Given the description of an element on the screen output the (x, y) to click on. 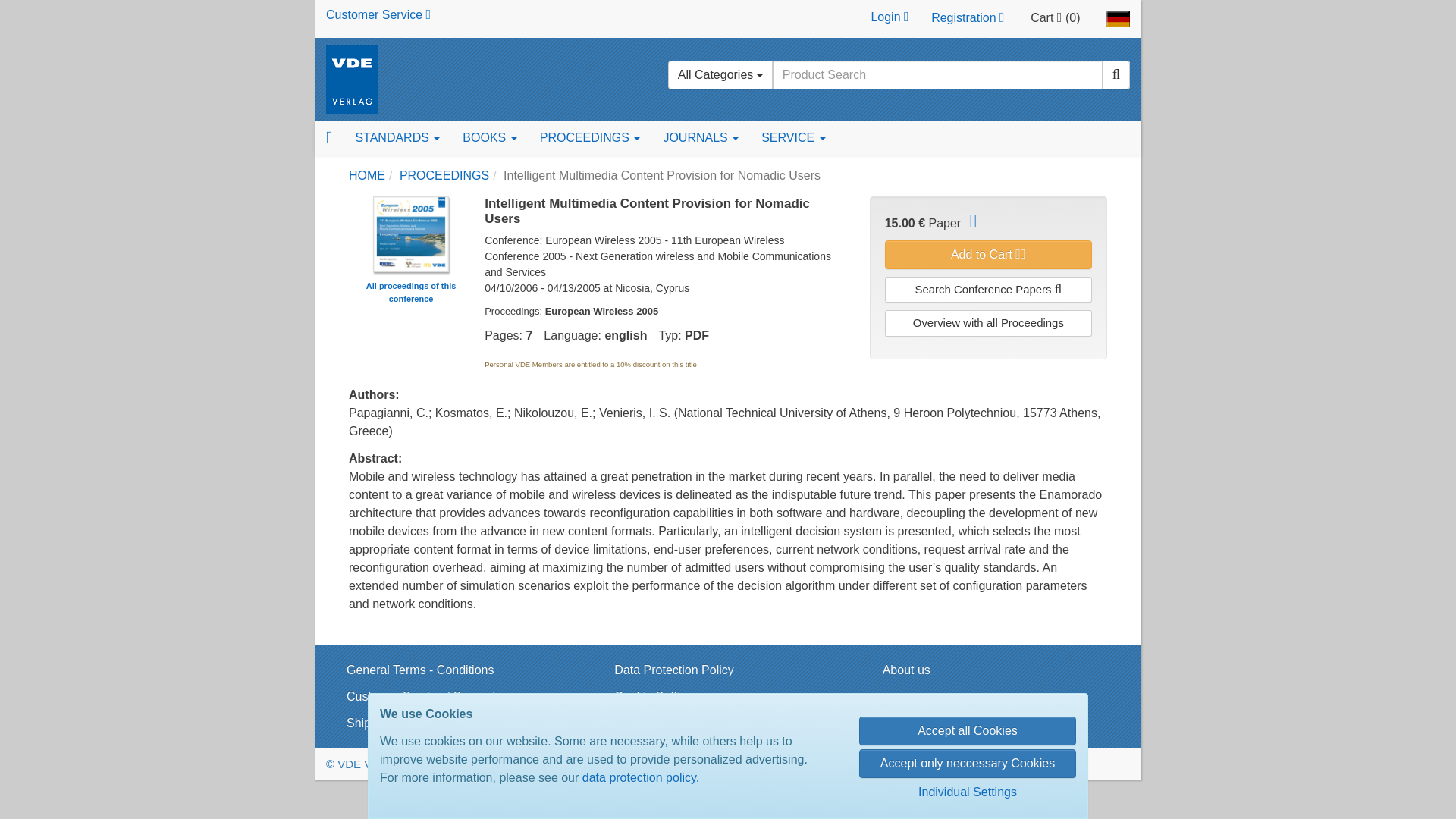
BOOKS (489, 137)
JOURNALS (699, 137)
STANDARDS (397, 137)
All Categories (720, 74)
SERVICE (792, 137)
Registration (967, 17)
Customer Service (378, 14)
Show all proceedings of this conference (410, 233)
PROCEEDINGS (590, 137)
Login (889, 18)
